Given the description of an element on the screen output the (x, y) to click on. 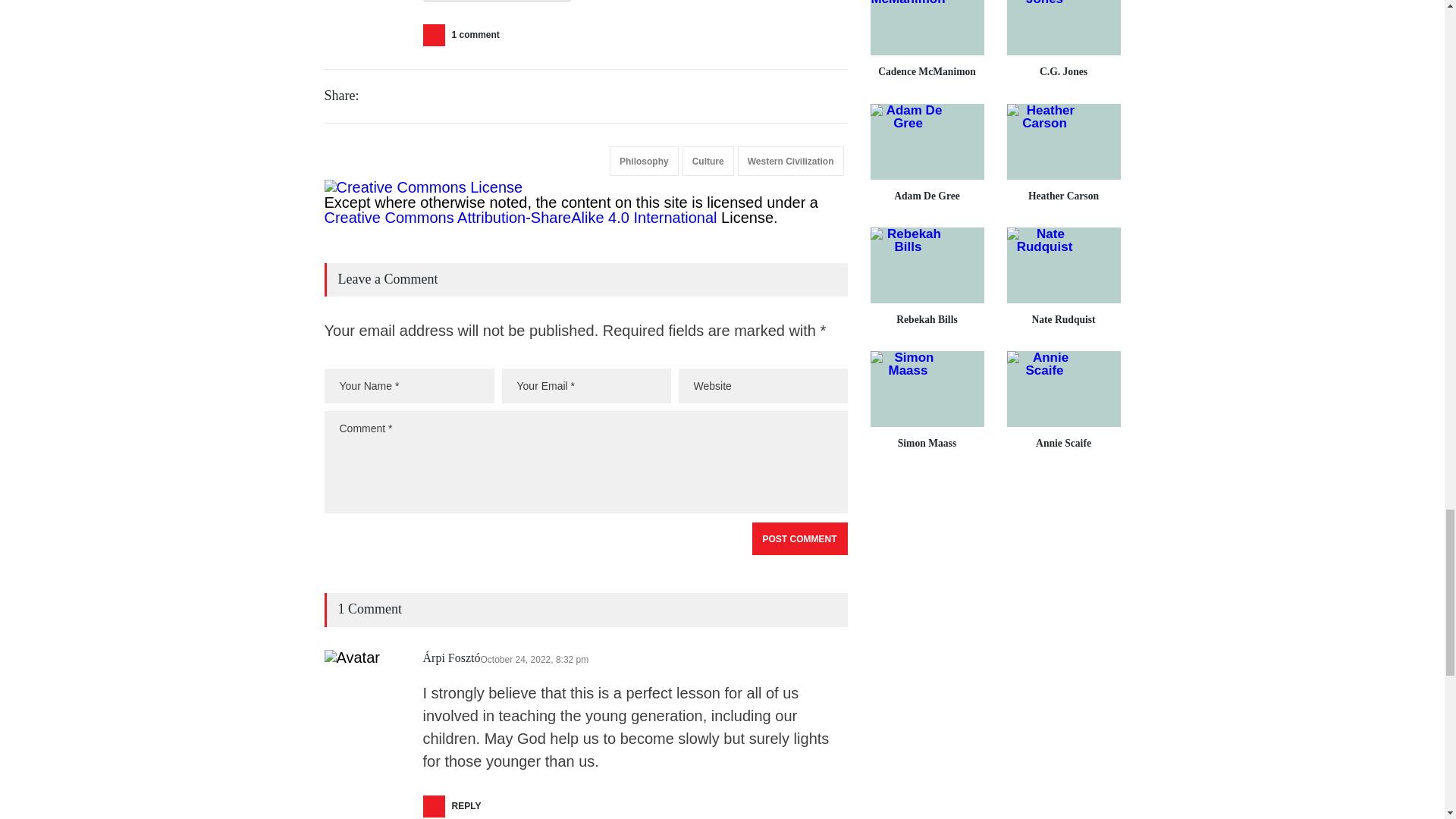
Website (762, 385)
POST COMMENT (799, 538)
1 comment (465, 34)
